Given the description of an element on the screen output the (x, y) to click on. 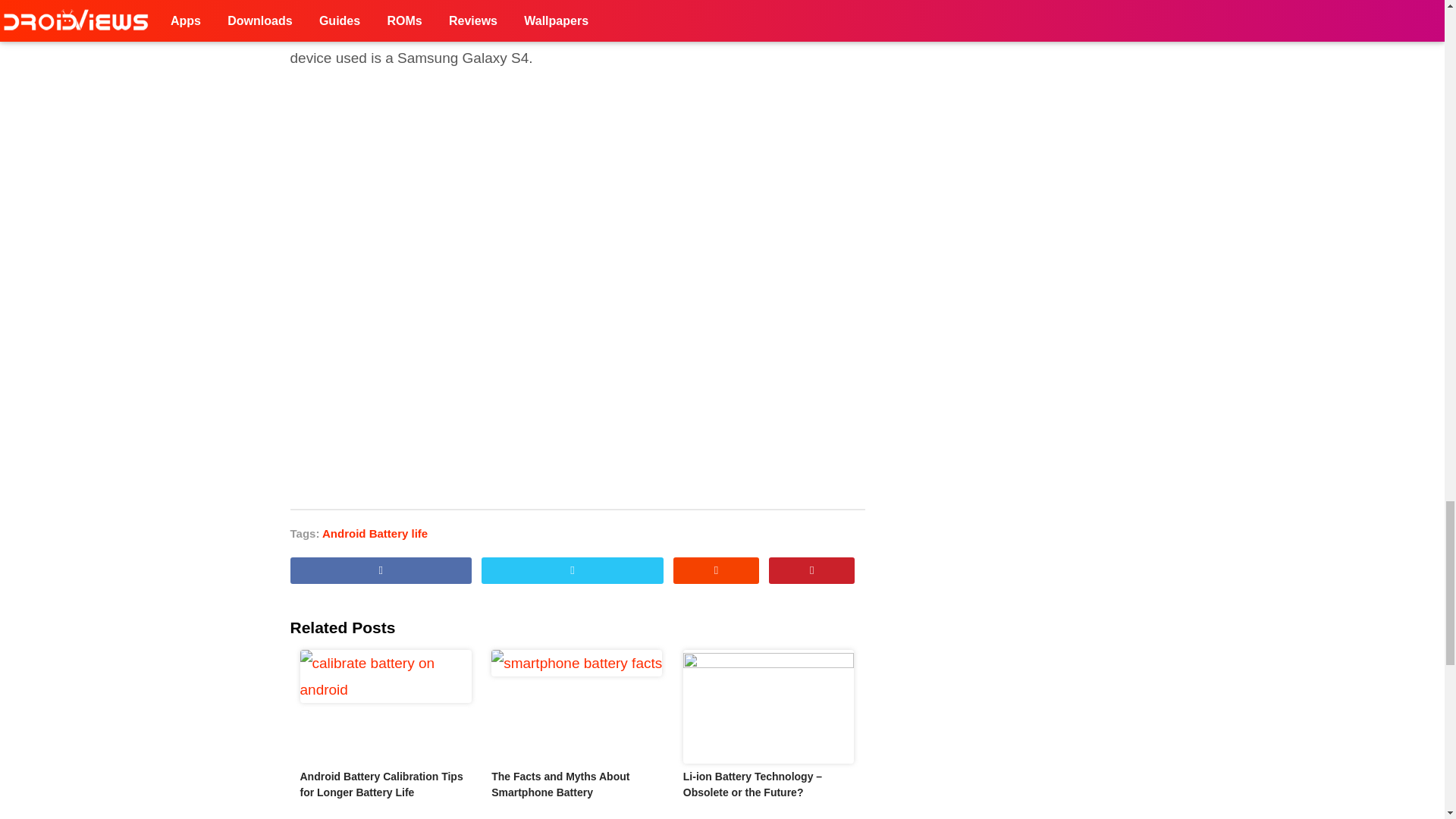
The Facts and Myths About Smartphone Battery (577, 706)
Charging Smartphone in 30S: StoreDot Flash-Battery Demo (576, 177)
Android Battery life (374, 533)
Android Battery Calibration Tips for Longer Battery Life (385, 706)
Android Battery Calibration Tips for Longer Battery Life (381, 784)
The Facts and Myths About Smartphone Battery (560, 784)
